Given the description of an element on the screen output the (x, y) to click on. 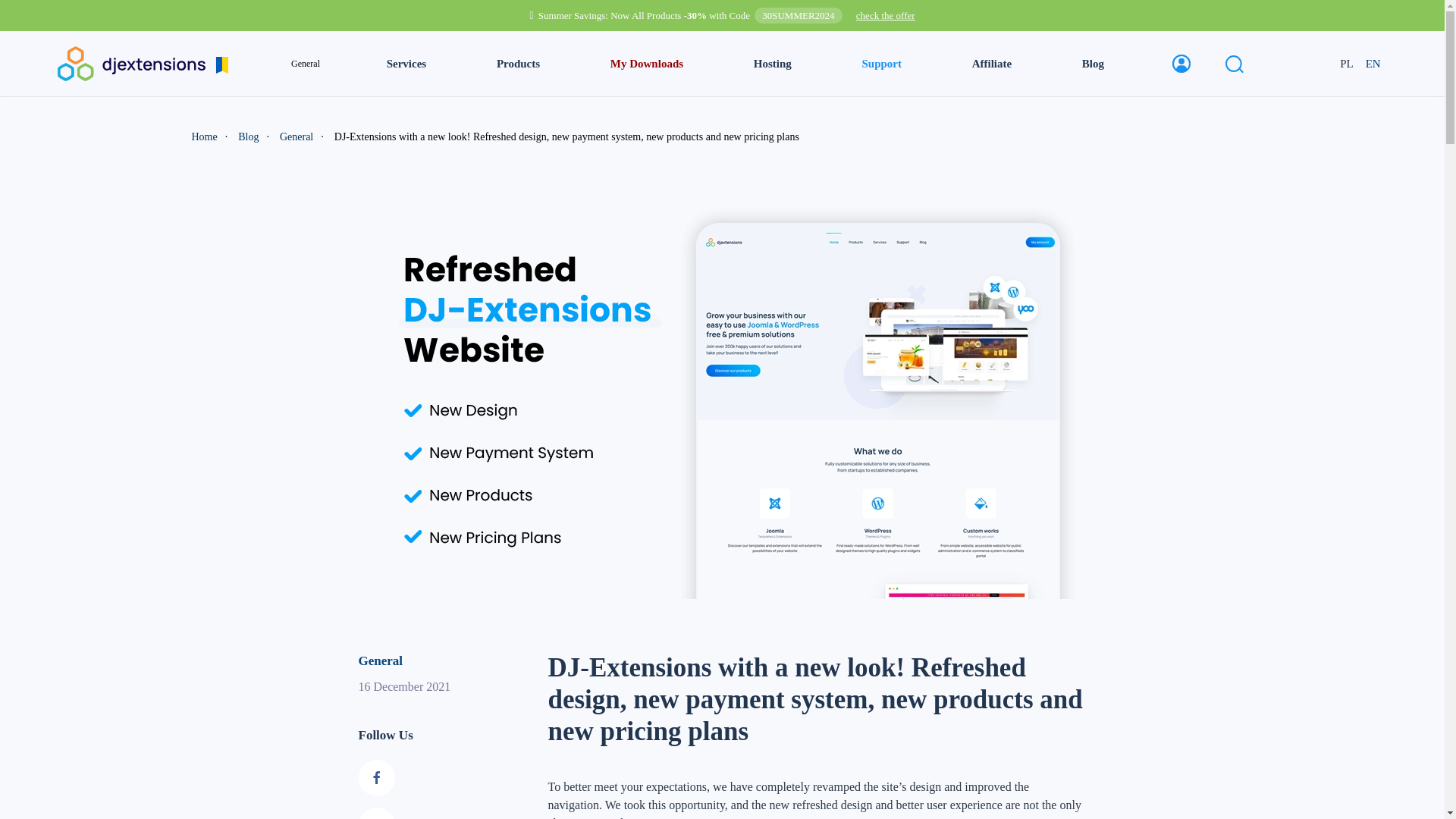
cls (646, 63)
Wordpress and Joomla Developer (143, 61)
language switcher - EN (1373, 63)
check the offer (885, 15)
Summer savings, check out the offer (885, 15)
